Given the description of an element on the screen output the (x, y) to click on. 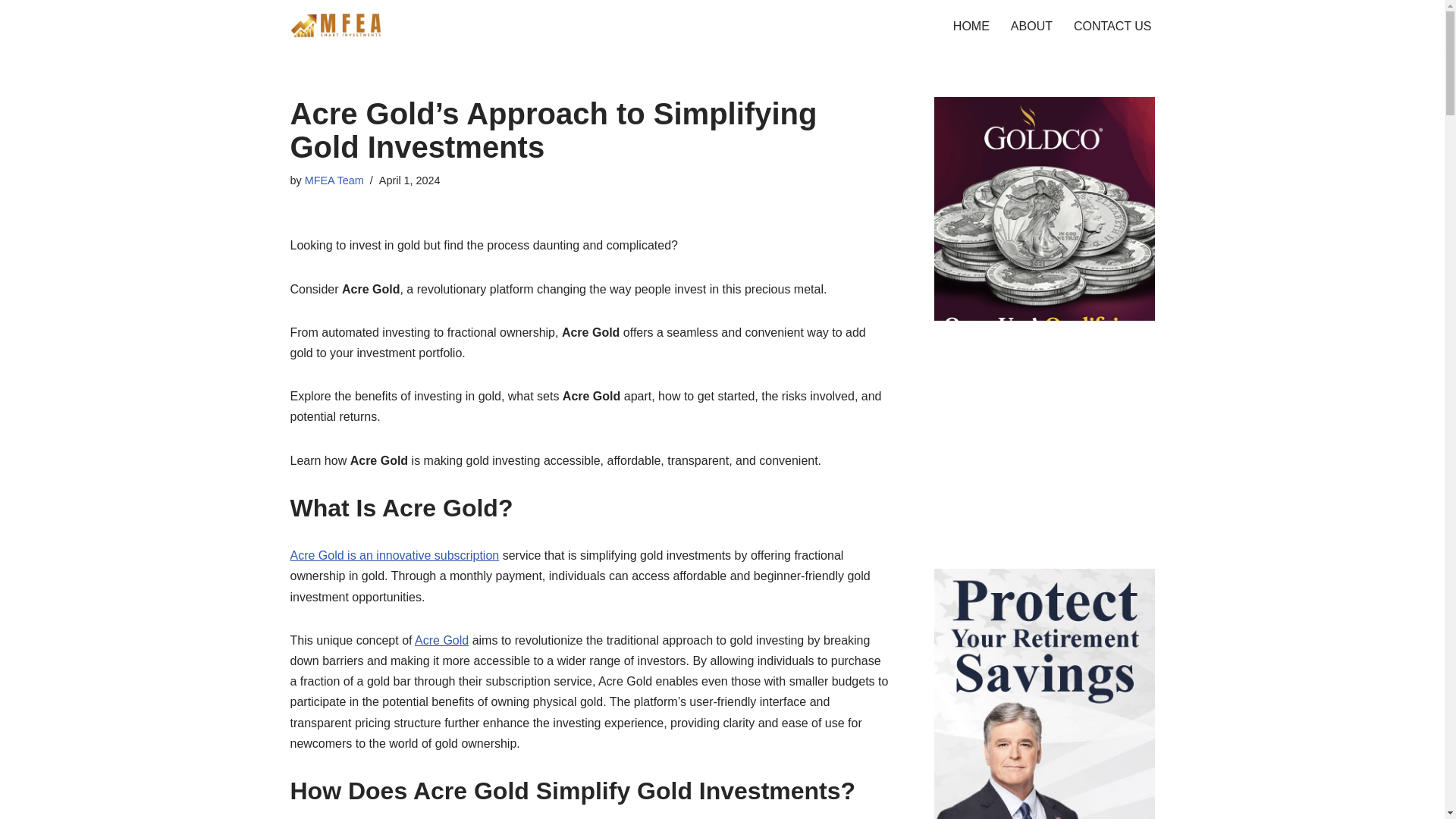
CONTACT US (1112, 25)
MFEA Team (334, 180)
Skip to content (11, 31)
ABOUT (1031, 25)
Acre Gold is an innovative subscription (394, 554)
Posts by MFEA Team (334, 180)
Acre Gold (441, 640)
HOME (971, 25)
